Given the description of an element on the screen output the (x, y) to click on. 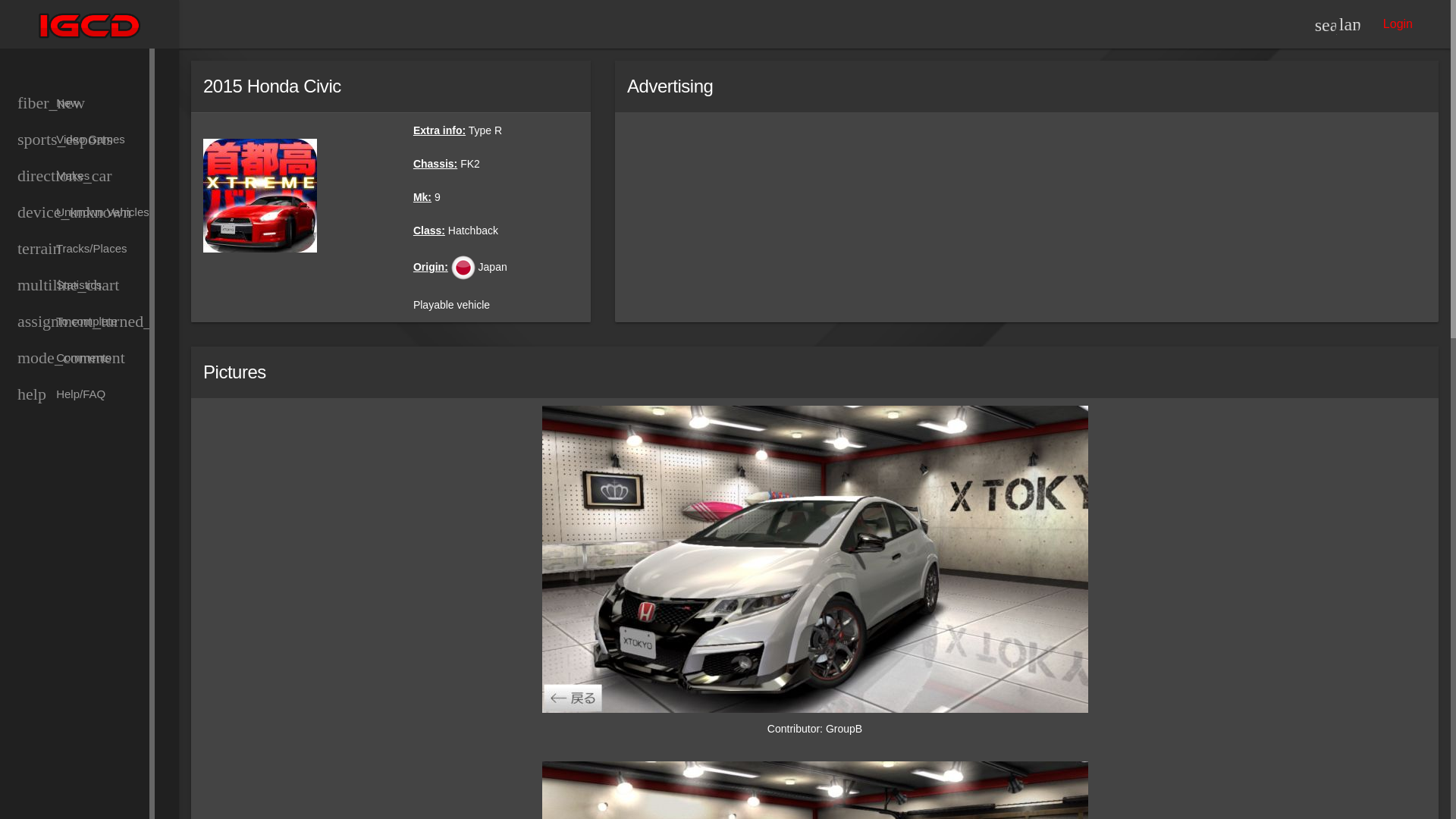
Login (1397, 23)
language (1347, 24)
Japan (463, 267)
